Given the description of an element on the screen output the (x, y) to click on. 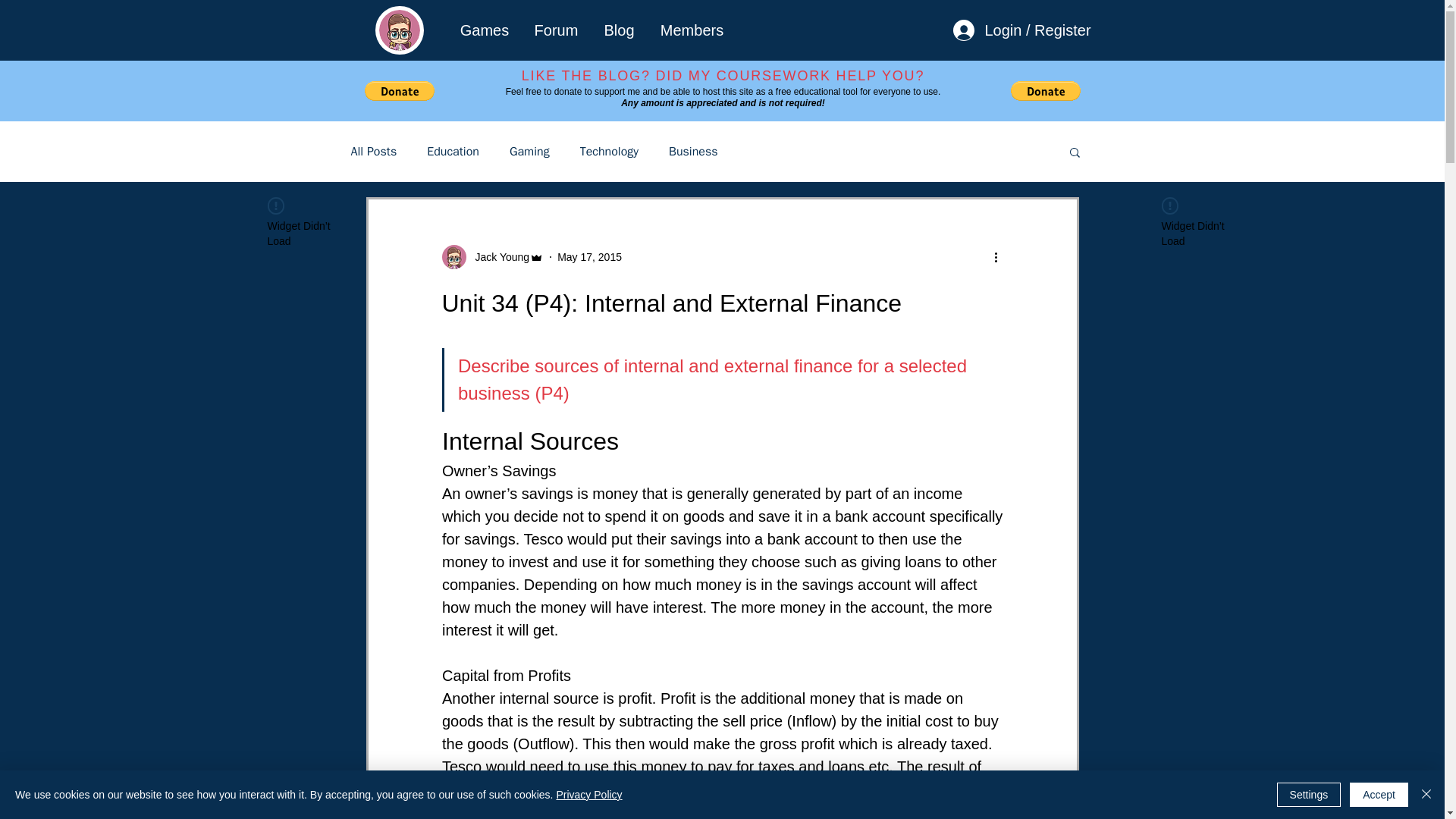
Members (691, 30)
Forum (556, 30)
Jack Young (492, 256)
Blog (619, 30)
All Posts (373, 151)
Business (692, 151)
Privacy Policy (588, 794)
Technology (609, 151)
May 17, 2015 (589, 256)
Games (483, 30)
Accept (1378, 794)
Education (452, 151)
Settings (1308, 794)
Gaming (529, 151)
Jack Young (497, 256)
